Given the description of an element on the screen output the (x, y) to click on. 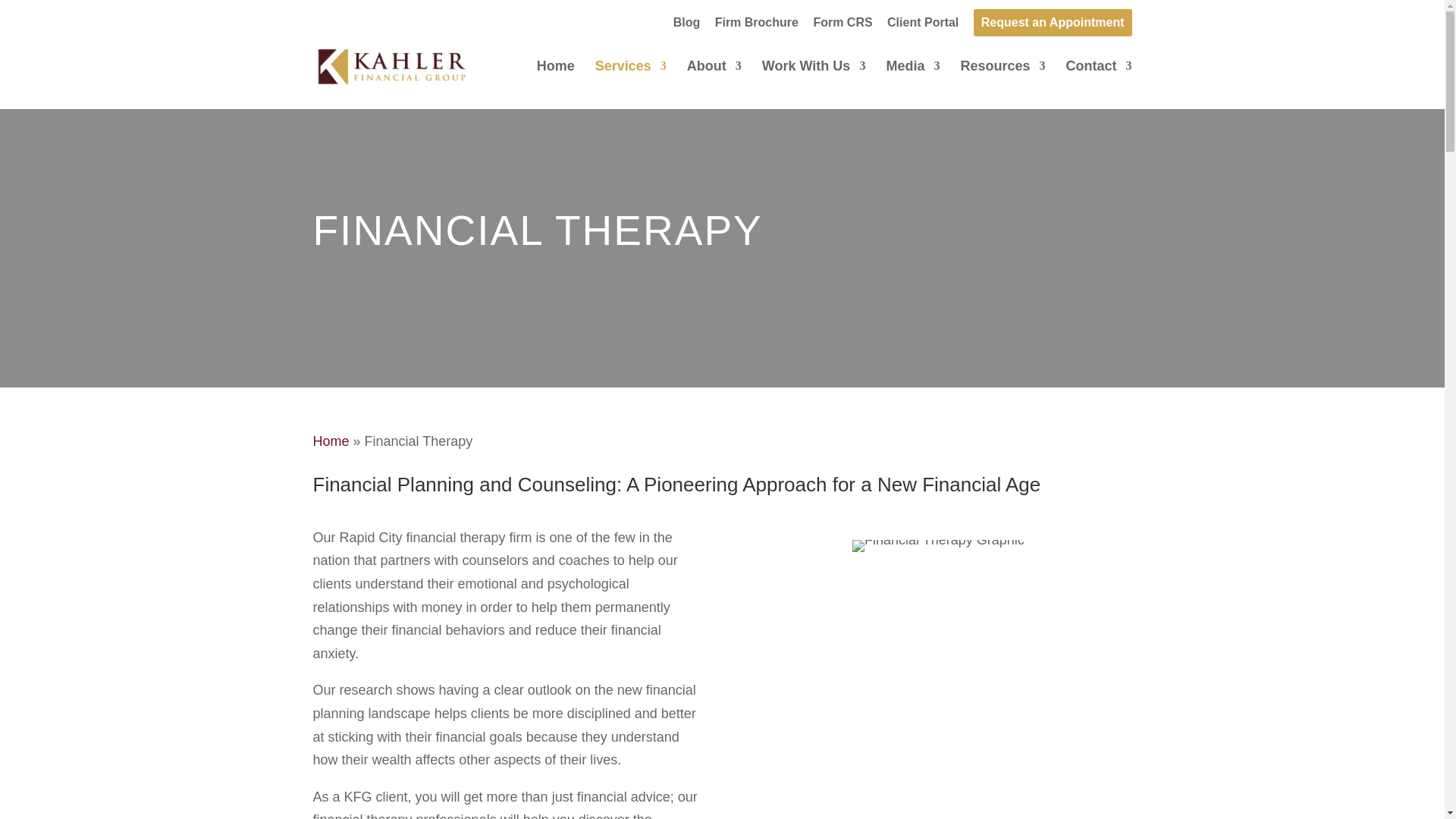
Blog (686, 26)
About (714, 84)
Request an Appointment (1053, 22)
Client Portal (922, 26)
Services (630, 84)
Form CRS (842, 26)
Firm Brochure (755, 26)
